Given the description of an element on the screen output the (x, y) to click on. 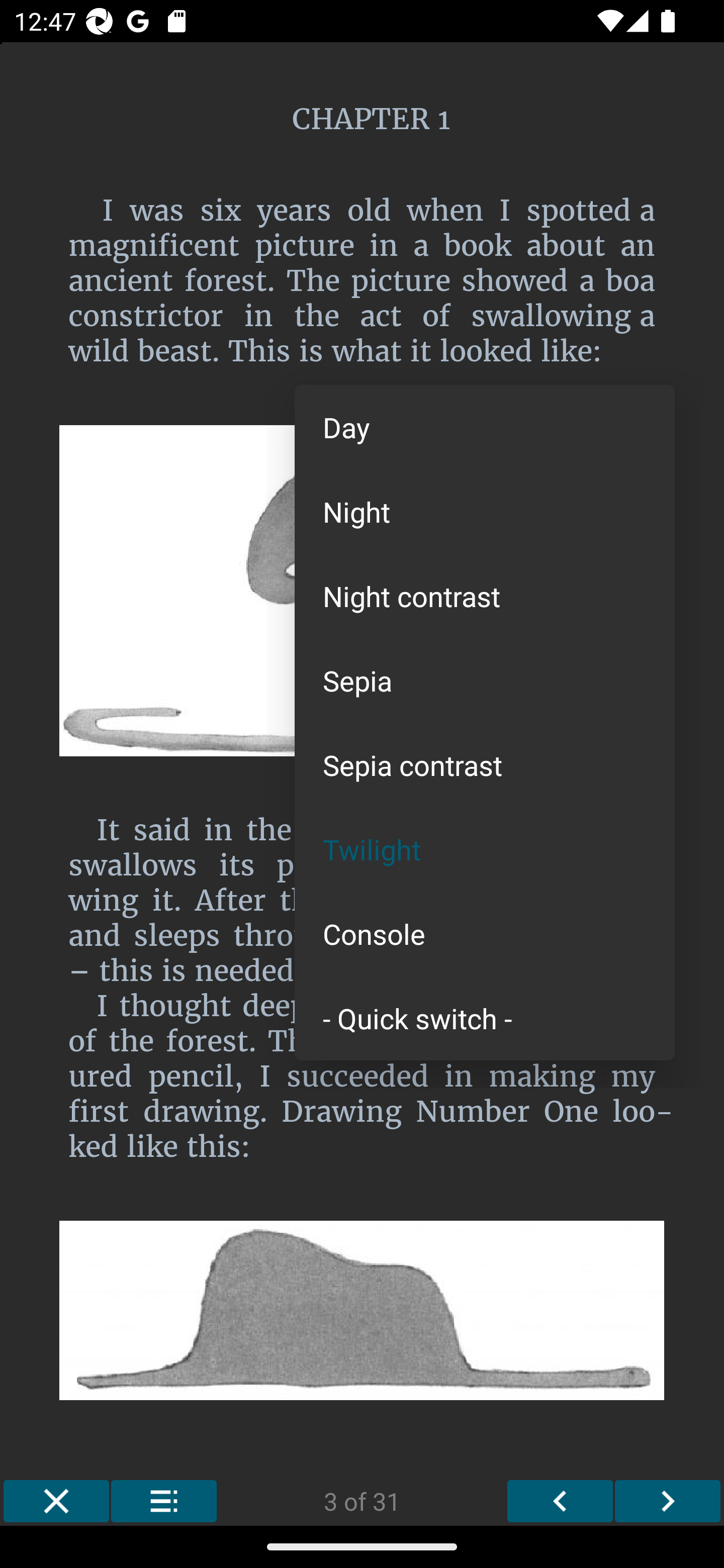
Day (484, 426)
Night (484, 510)
Night contrast (484, 595)
Sepia (484, 680)
Sepia contrast (484, 764)
Twilight (484, 849)
Console (484, 933)
- Quick switch - (484, 1017)
